Given the description of an element on the screen output the (x, y) to click on. 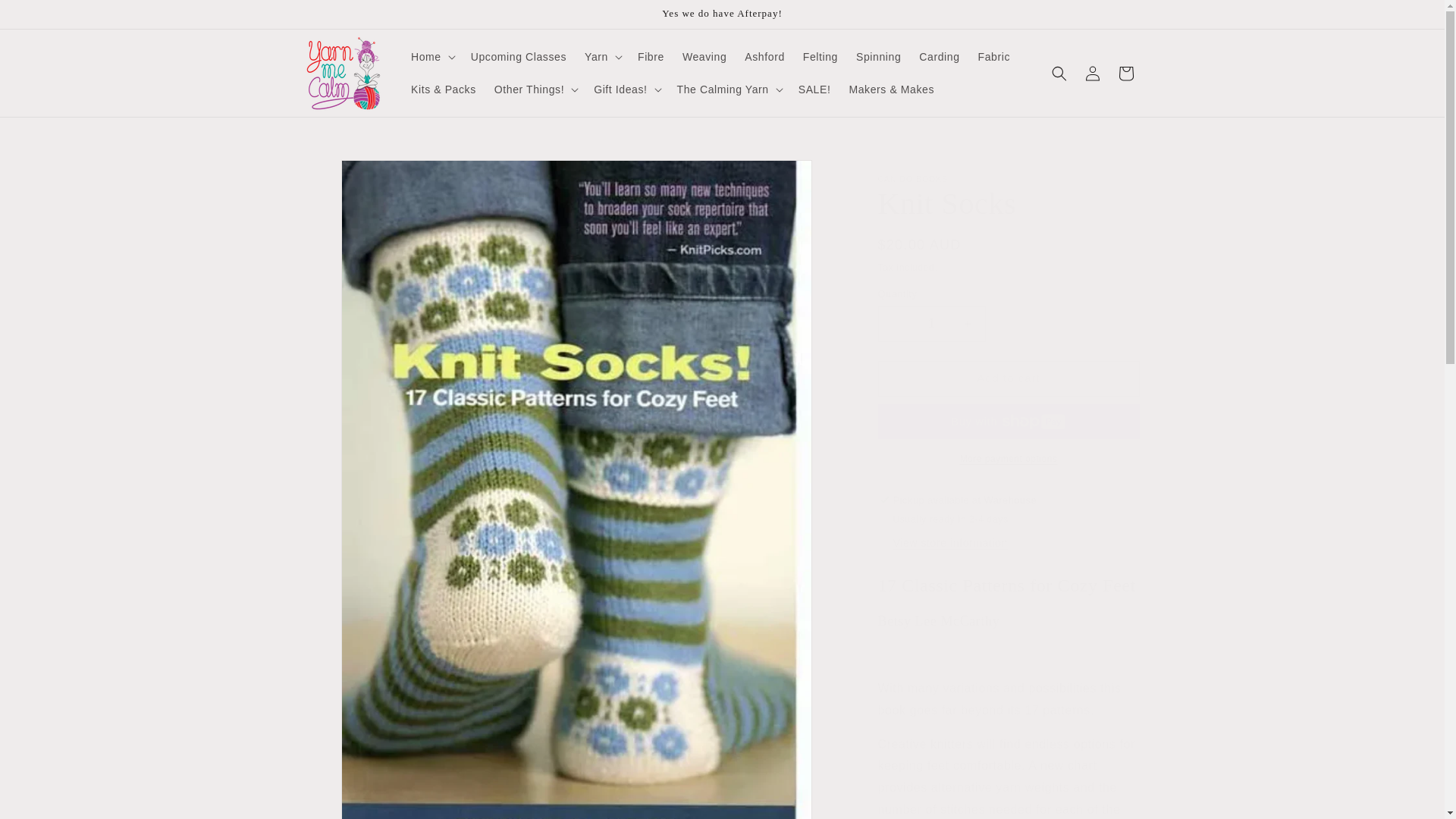
1 (931, 324)
Skip to content (45, 17)
